Given the description of an element on the screen output the (x, y) to click on. 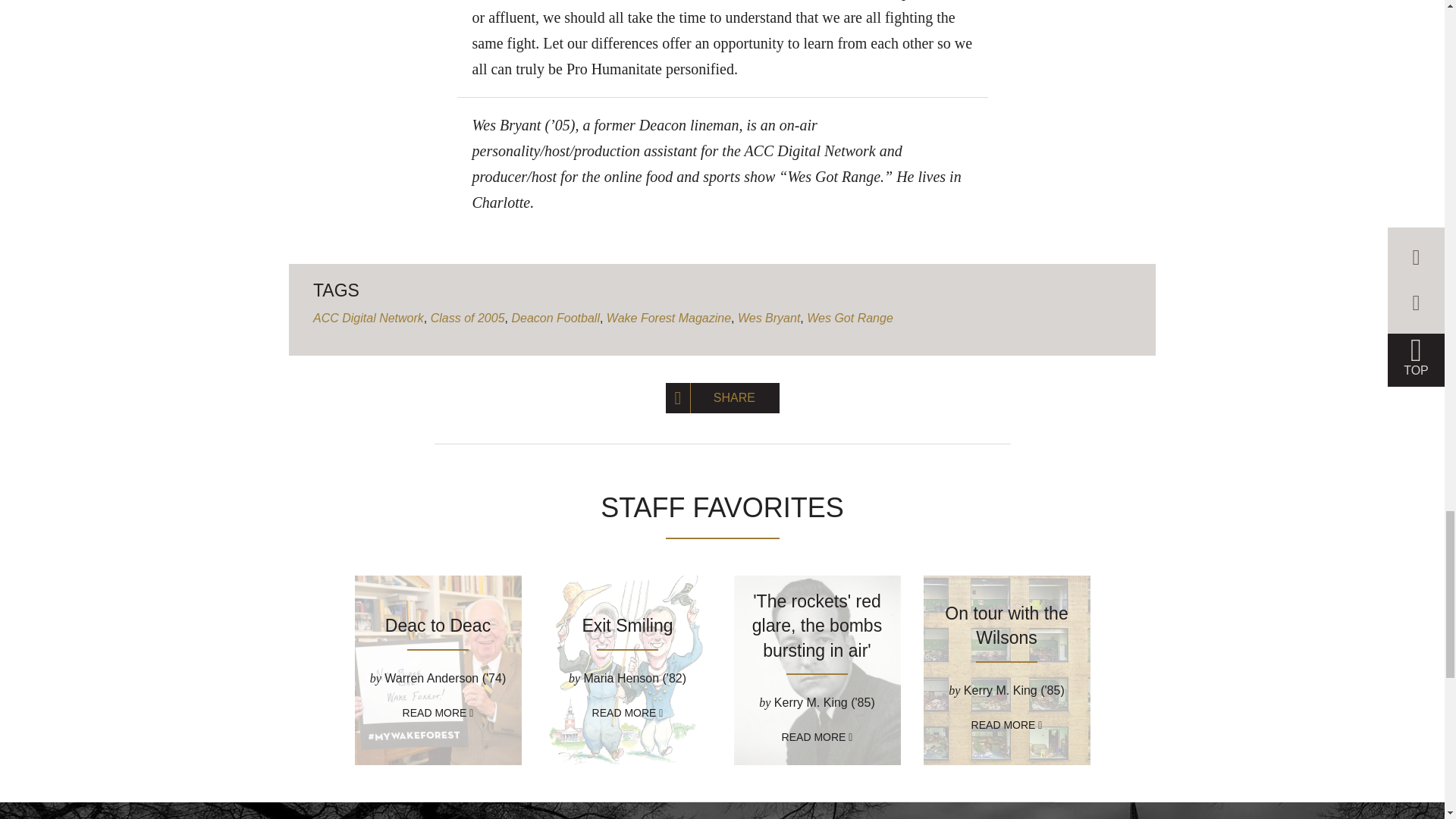
READ MORE (627, 712)
READ MORE (438, 712)
Wes Got Range (849, 318)
'The rockets' red glare, the bombs bursting in air' (817, 625)
READ MORE (817, 736)
Exit Smiling (626, 625)
Wake Forest Magazine (668, 318)
On tour with the Wilsons (1005, 625)
Deacon Football (555, 318)
Class of 2005 (467, 318)
